Given the description of an element on the screen output the (x, y) to click on. 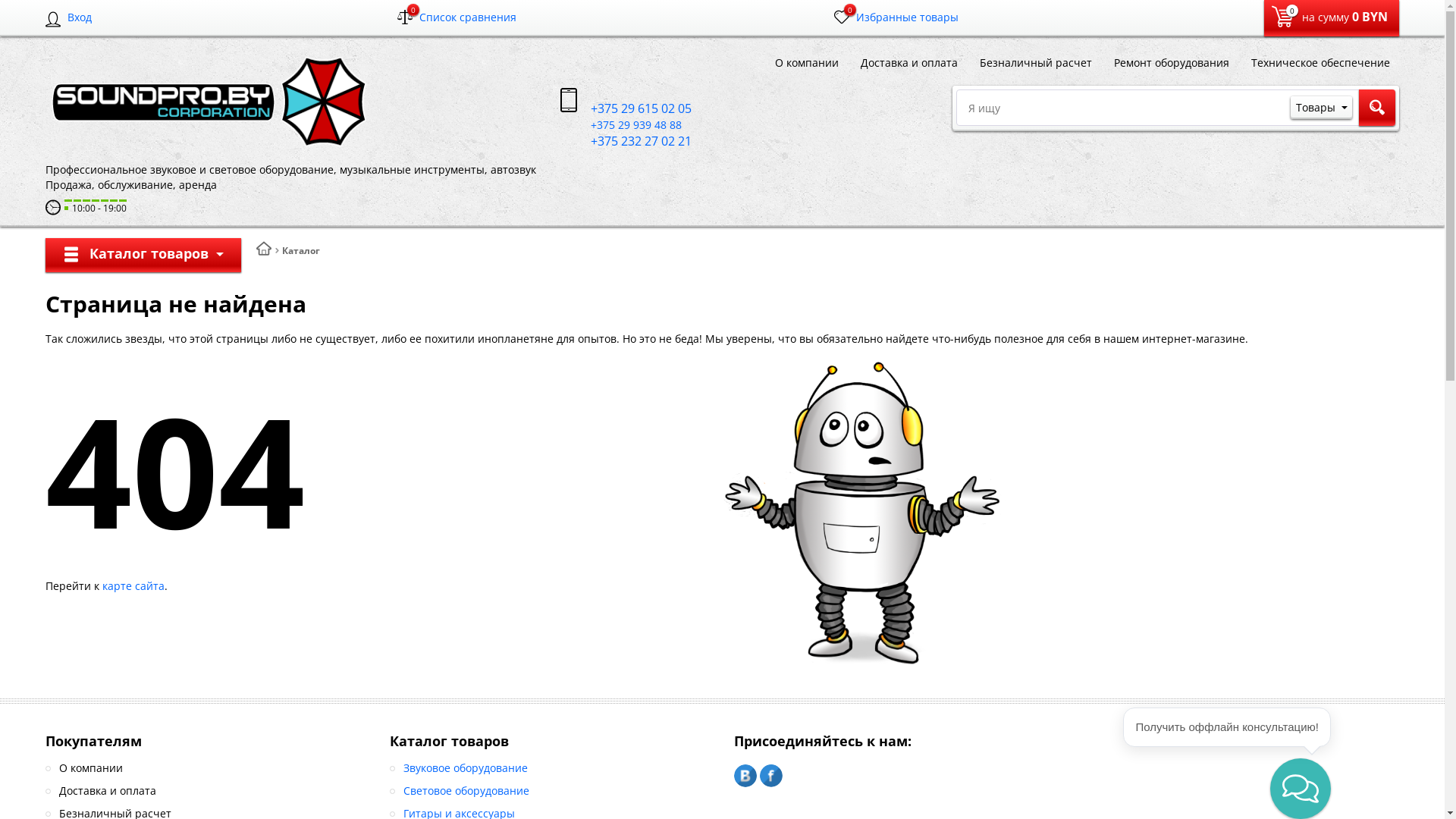
          +375 29 615 02 05 Element type: text (625, 108)
Facebook Element type: hover (770, 775)
          +375 232 27 02 21  Element type: text (627, 141)
soundpro zont logo mini.png Element type: hover (208, 101)
          +375 29 939 48 88  Element type: text (622, 124)
